Given the description of an element on the screen output the (x, y) to click on. 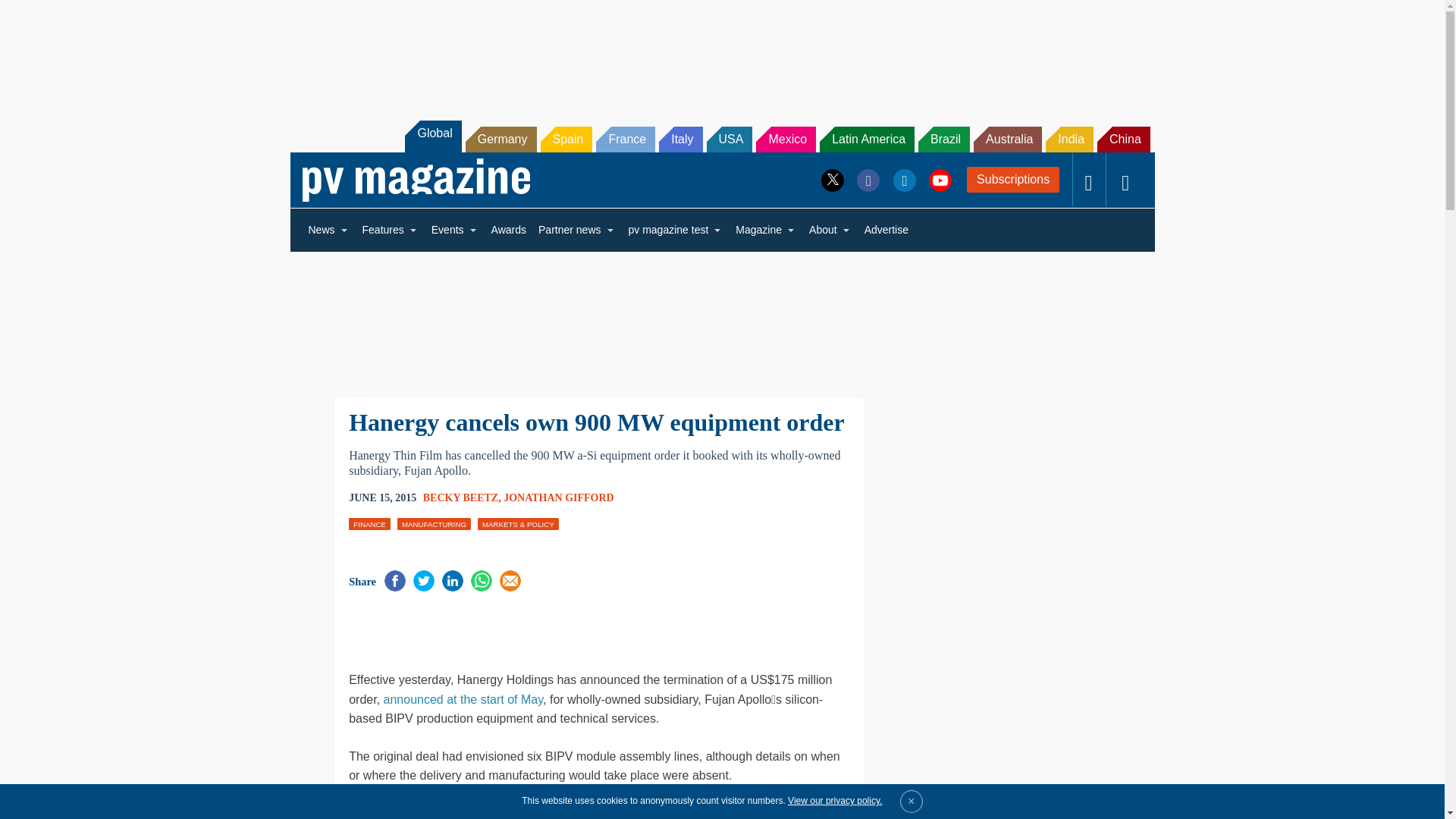
3rd party ad content (721, 51)
China (1123, 139)
Australia (1008, 139)
pv magazine - Photovoltaics Markets and Technology (415, 179)
Italy (680, 139)
India (1069, 139)
Latin America (866, 139)
France (625, 139)
pv magazine - Photovoltaics Markets and Technology (415, 180)
3rd party ad content (526, 628)
Spain (566, 139)
Brazil (943, 139)
Germany (501, 139)
Mexico (785, 139)
Global (432, 136)
